Given the description of an element on the screen output the (x, y) to click on. 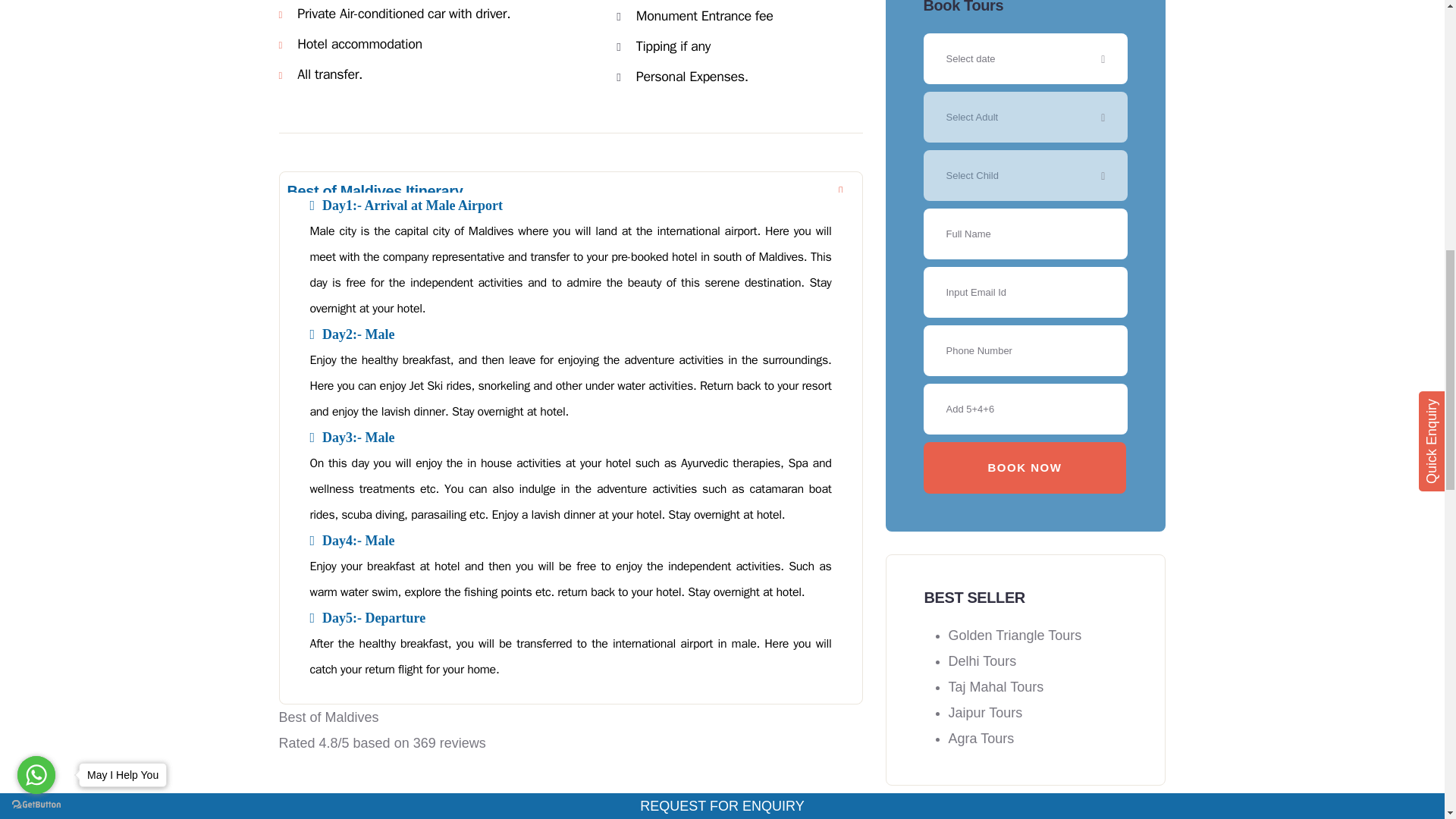
Select Adult (1025, 116)
Select Child (1025, 174)
